Given the description of an element on the screen output the (x, y) to click on. 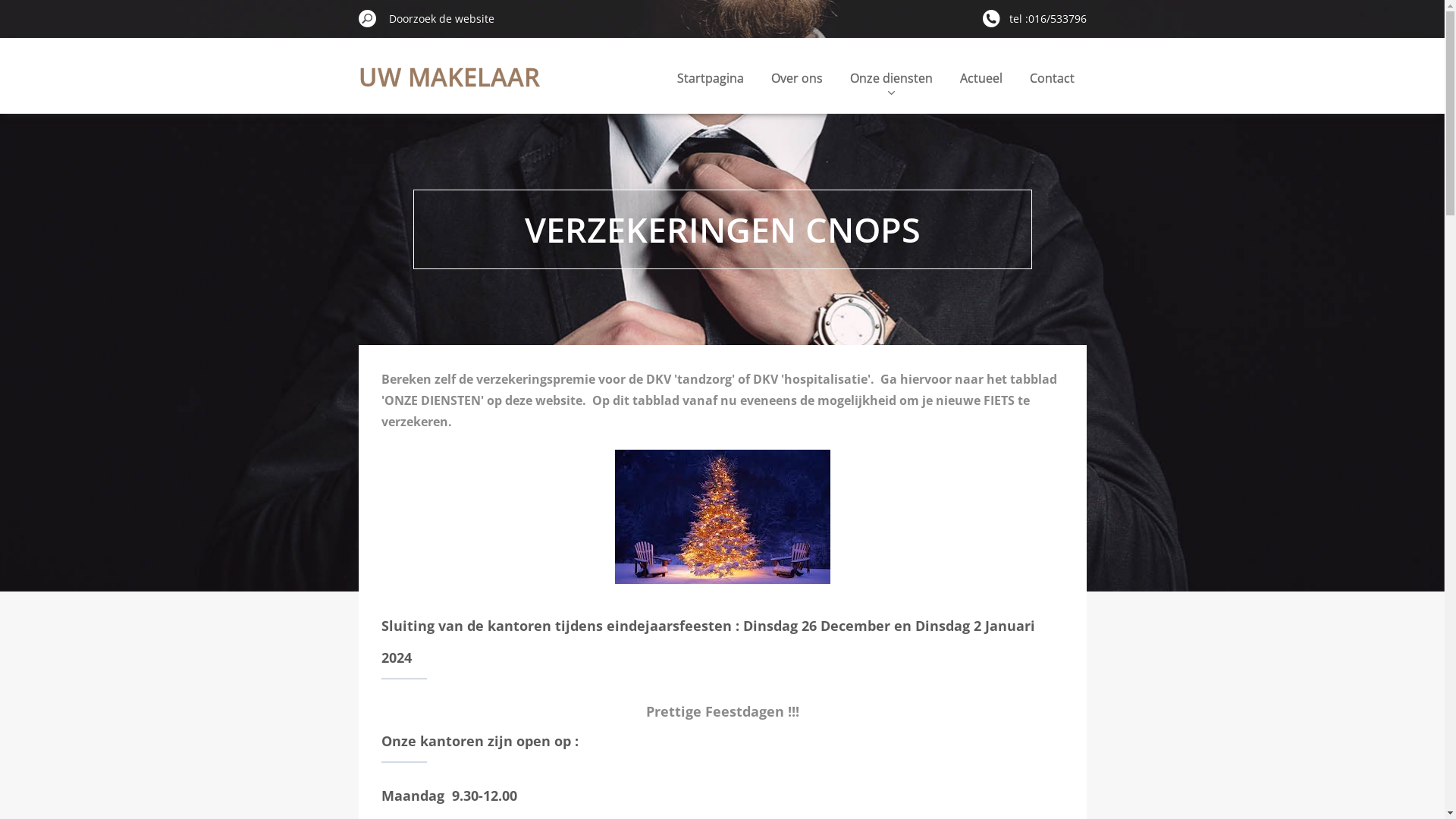
Contact Element type: text (1051, 75)
Over ons Element type: text (796, 75)
Onze diensten Element type: text (890, 75)
Zoeken Element type: text (366, 17)
Actueel Element type: text (980, 75)
Startpagina Element type: text (709, 75)
